Given the description of an element on the screen output the (x, y) to click on. 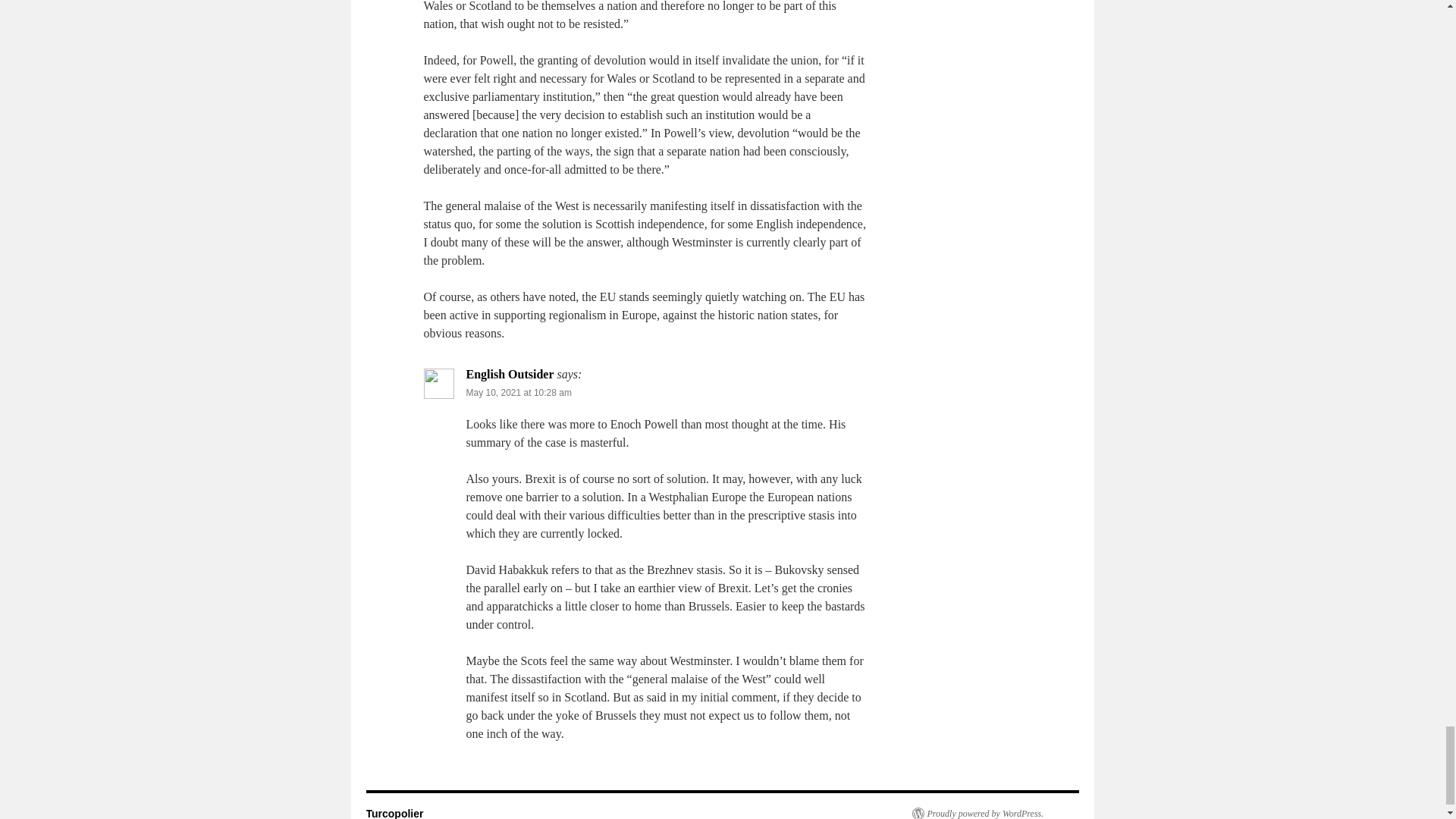
May 10, 2021 at 10:28 am (517, 392)
